Given the description of an element on the screen output the (x, y) to click on. 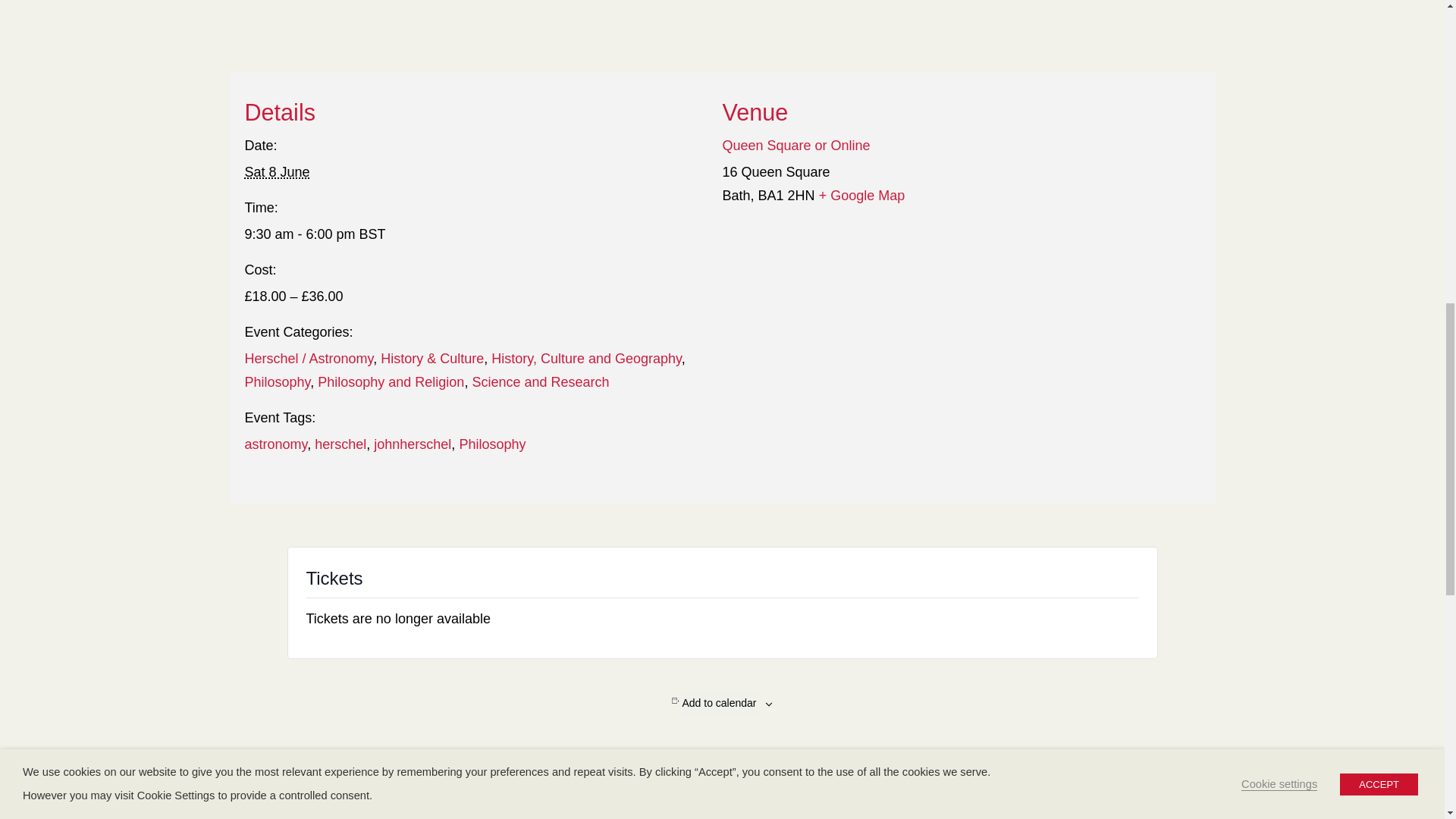
Share this (742, 777)
Tweet this (701, 777)
Share this (660, 777)
Share this (823, 777)
2024-06-08 (276, 171)
Email this (619, 777)
Pin this (782, 777)
2024-06-08 (473, 234)
Click to view a Google Map (861, 195)
